Given the description of an element on the screen output the (x, y) to click on. 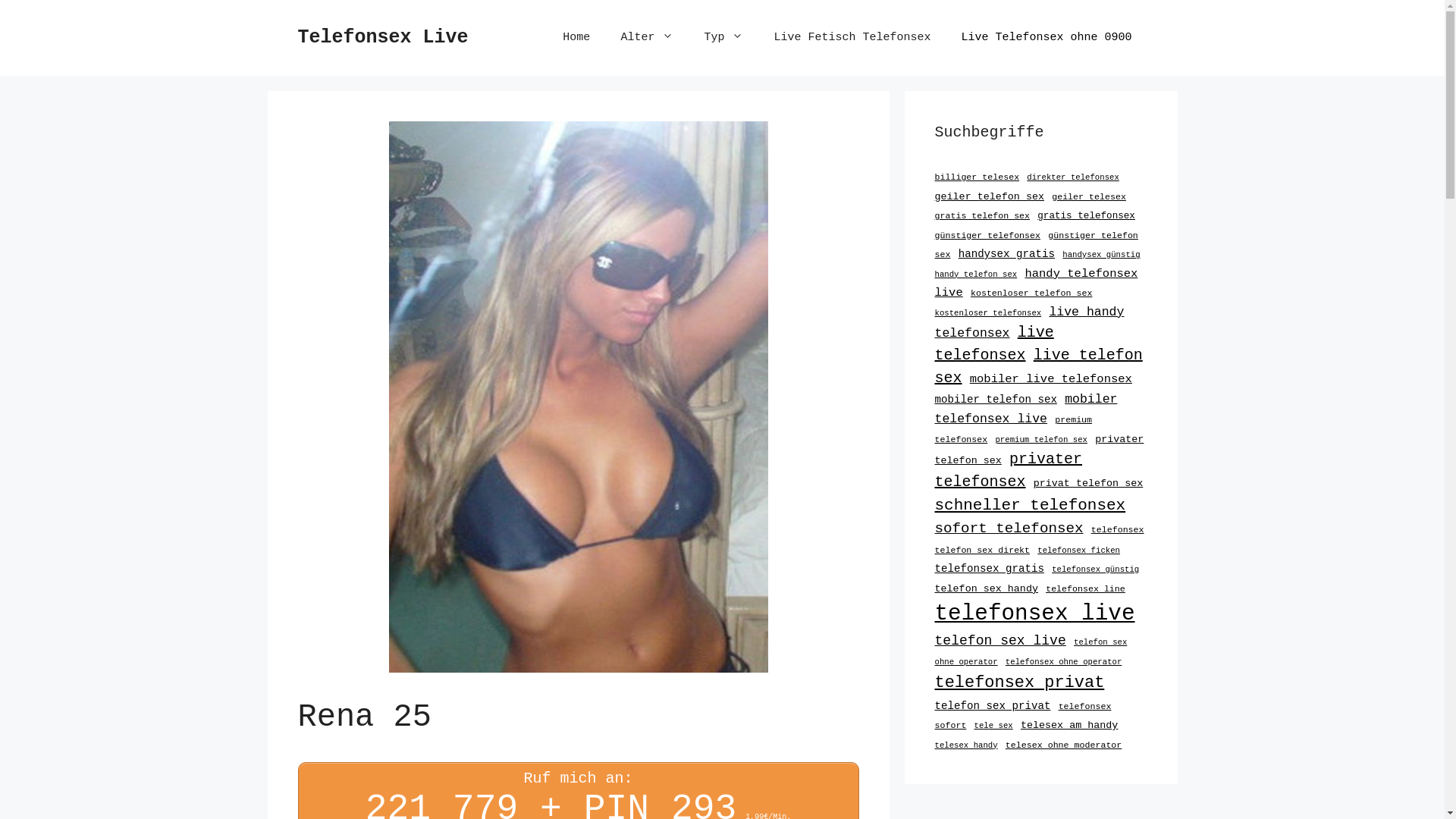
telefon sex direkt Element type: text (981, 550)
privater telefon sex Element type: text (1038, 450)
handy telefonsex live Element type: text (1035, 283)
mobiler live telefonsex Element type: text (1050, 378)
tele sex Element type: text (993, 725)
geiler telesex Element type: text (1088, 195)
telefonsex line Element type: text (1085, 588)
telefonsex privat Element type: text (1019, 682)
handysex gratis Element type: text (1006, 253)
telesex ohne moderator Element type: text (1063, 744)
mobiler telefon sex Element type: text (995, 399)
telefonsex ficken Element type: text (1078, 550)
privater telefonsex Element type: text (1008, 470)
telesex handy Element type: text (965, 744)
live handy telefonsex Element type: text (1028, 322)
Home Element type: text (576, 37)
handy telefon sex Element type: text (975, 274)
Live Telefonsex ohne 0900 Element type: text (1045, 37)
telefon sex privat Element type: text (992, 705)
live telefon sex Element type: text (1038, 366)
gratis telefonsex Element type: text (1086, 215)
mobiler telefonsex live Element type: text (1025, 409)
Live Fetisch Telefonsex Element type: text (851, 37)
premium telefon sex Element type: text (1040, 439)
telefonsex live Element type: text (1034, 613)
sofort telefonsex Element type: text (1008, 528)
direkter telefonsex Element type: text (1072, 177)
telefon sex handy Element type: text (985, 588)
Typ Element type: text (723, 37)
gratis telefon sex Element type: text (981, 215)
telefon sex ohne operator Element type: text (1030, 651)
telefon sex live Element type: text (999, 640)
Telefonsex Live Element type: text (382, 37)
telefonsex ohne operator Element type: text (1063, 661)
schneller telefonsex Element type: text (1029, 505)
privat telefon sex Element type: text (1087, 483)
kostenloser telefon sex Element type: text (1031, 293)
billiger telesex Element type: text (976, 177)
geiler telefon sex Element type: text (988, 196)
telesex am handy Element type: text (1068, 725)
Alter Element type: text (646, 37)
telefonsex sofort Element type: text (1022, 716)
premium telefonsex Element type: text (1013, 429)
live telefonsex Element type: text (993, 343)
telefonsex Element type: text (1117, 529)
kostenloser telefonsex Element type: text (987, 311)
telefonsex gratis Element type: text (988, 568)
